Given the description of an element on the screen output the (x, y) to click on. 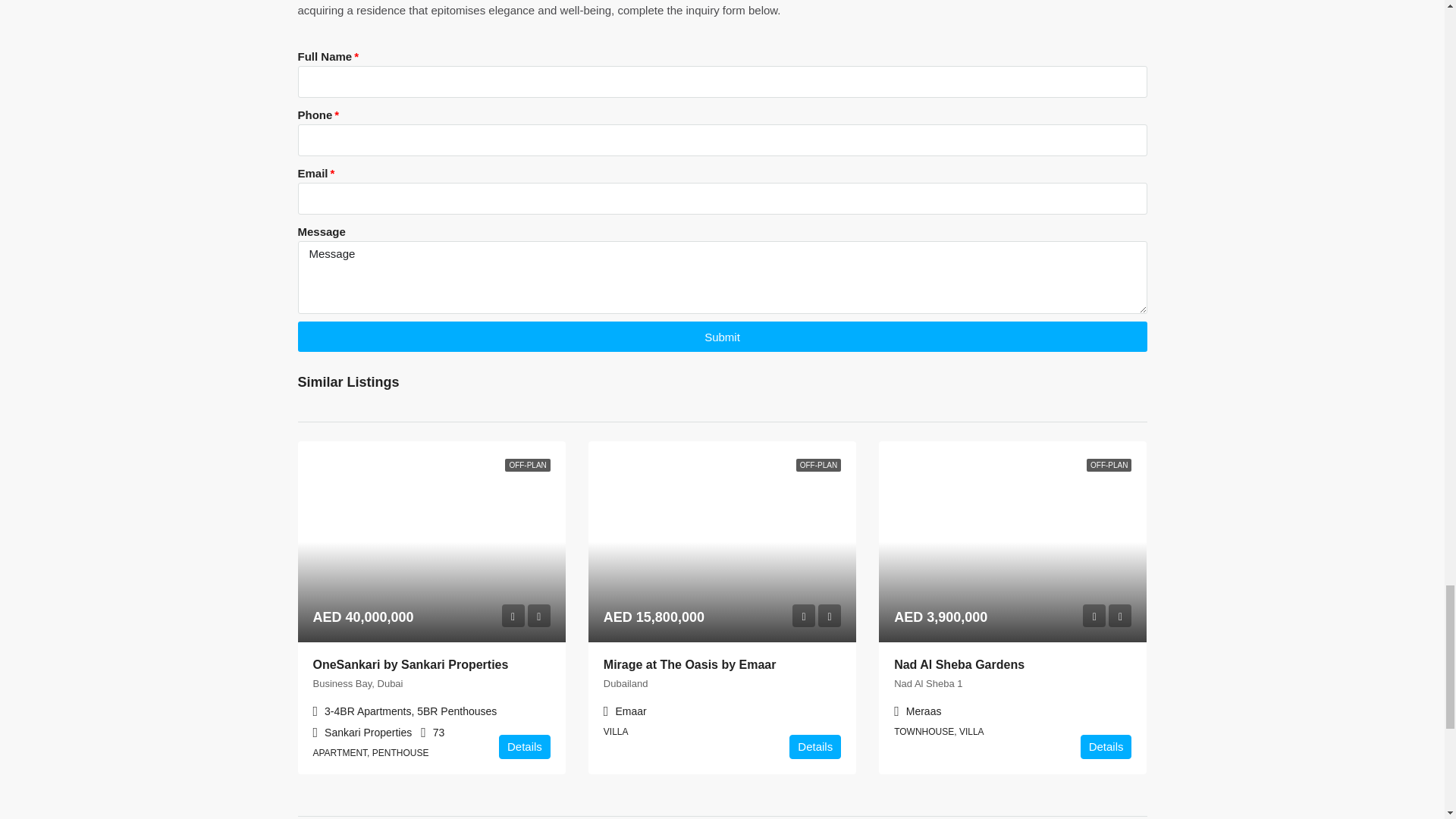
Favourite (1119, 615)
Favourite (829, 615)
Preview (1094, 615)
Preview (803, 615)
Favourite (538, 615)
Preview (513, 615)
